Given the description of an element on the screen output the (x, y) to click on. 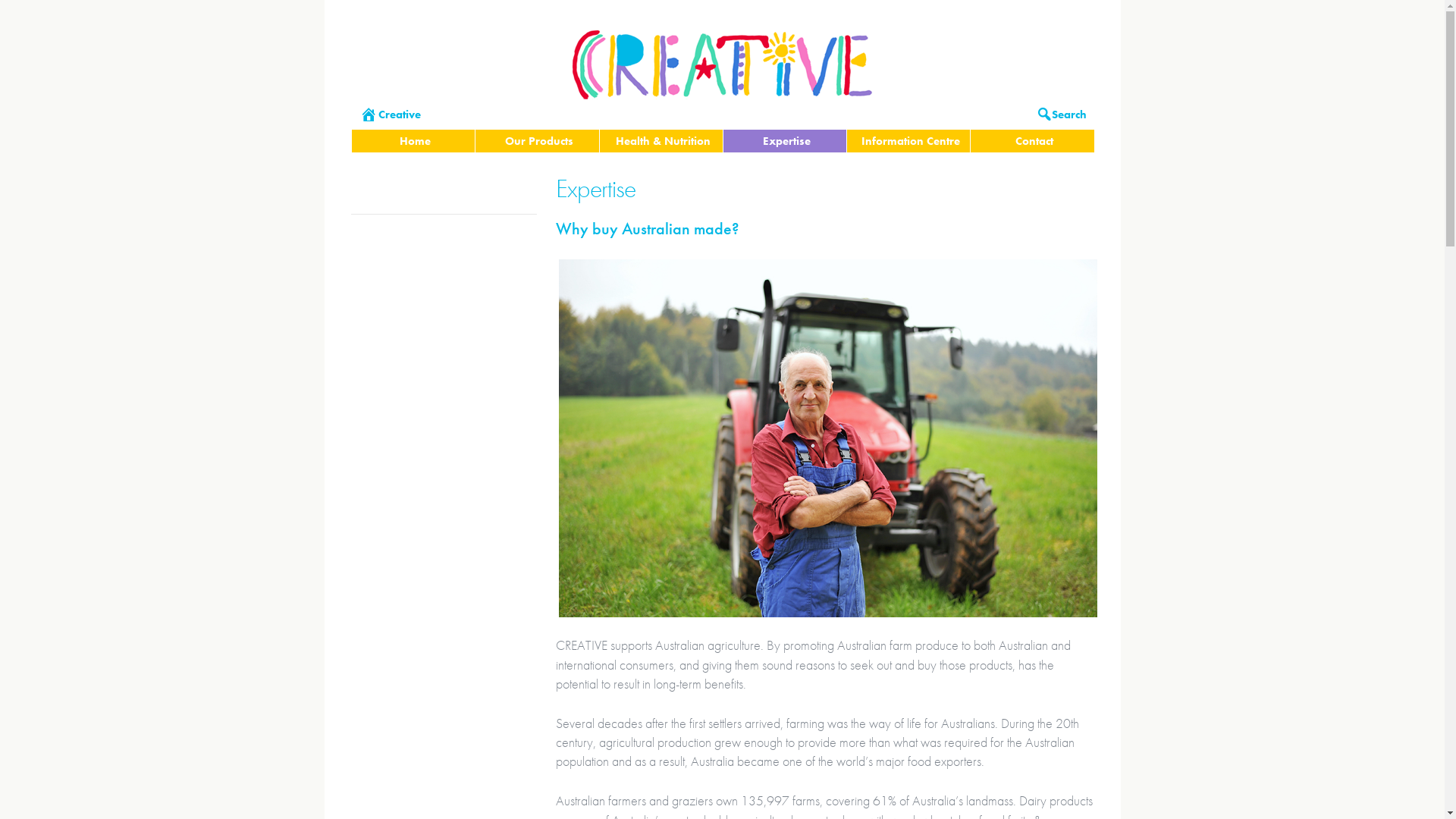
Health & Nutrition Element type: text (662, 140)
Search Element type: text (1060, 114)
Contact Element type: text (1033, 140)
Home Element type: text (414, 140)
Information Centre Element type: text (909, 140)
Our Products Element type: text (538, 140)
Expertise Element type: text (786, 140)
Skip to primary content Element type: text (767, 107)
Done Creative Element type: hover (722, 90)
